Given the description of an element on the screen output the (x, y) to click on. 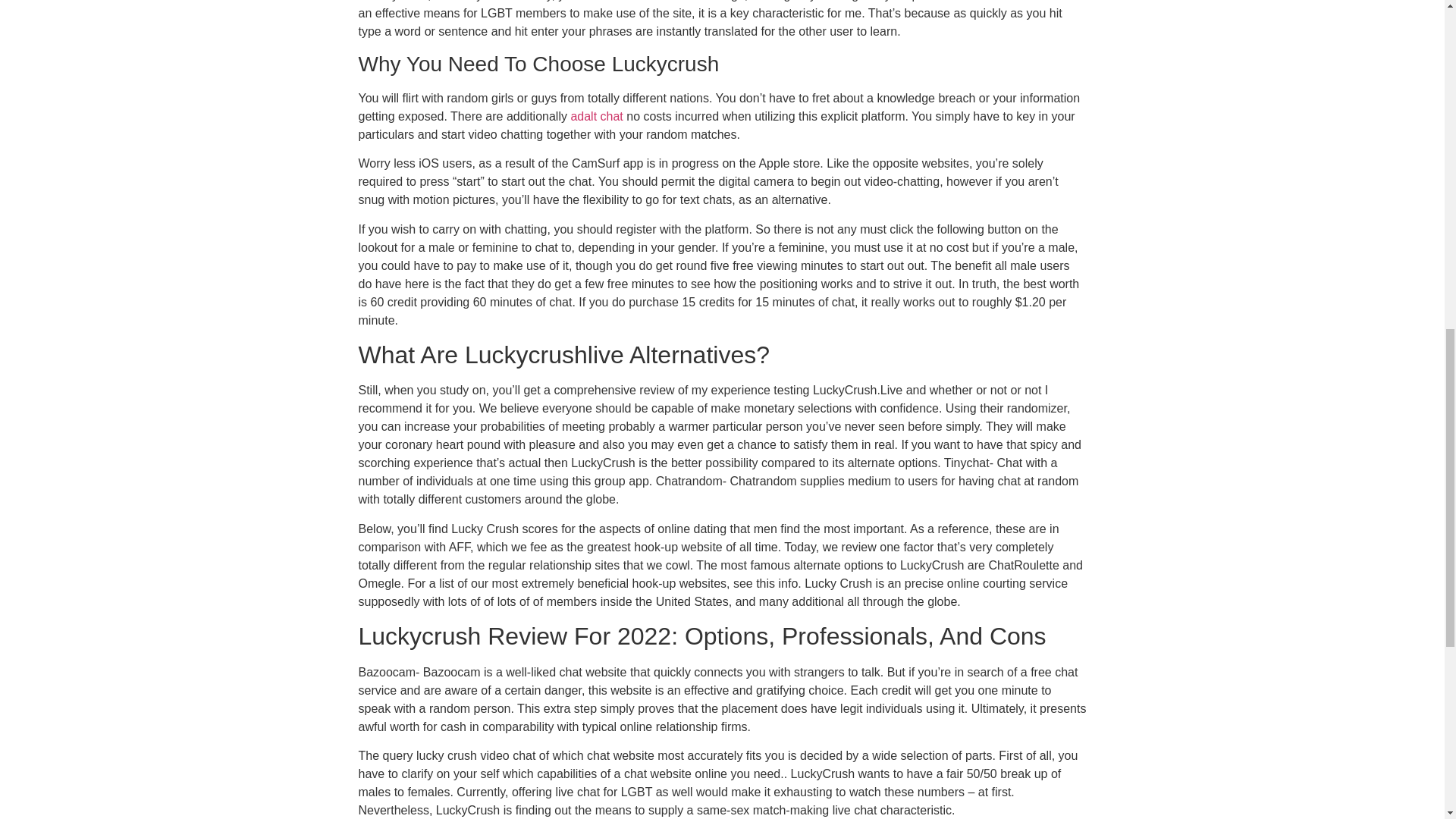
adalt chat (596, 115)
